Given the description of an element on the screen output the (x, y) to click on. 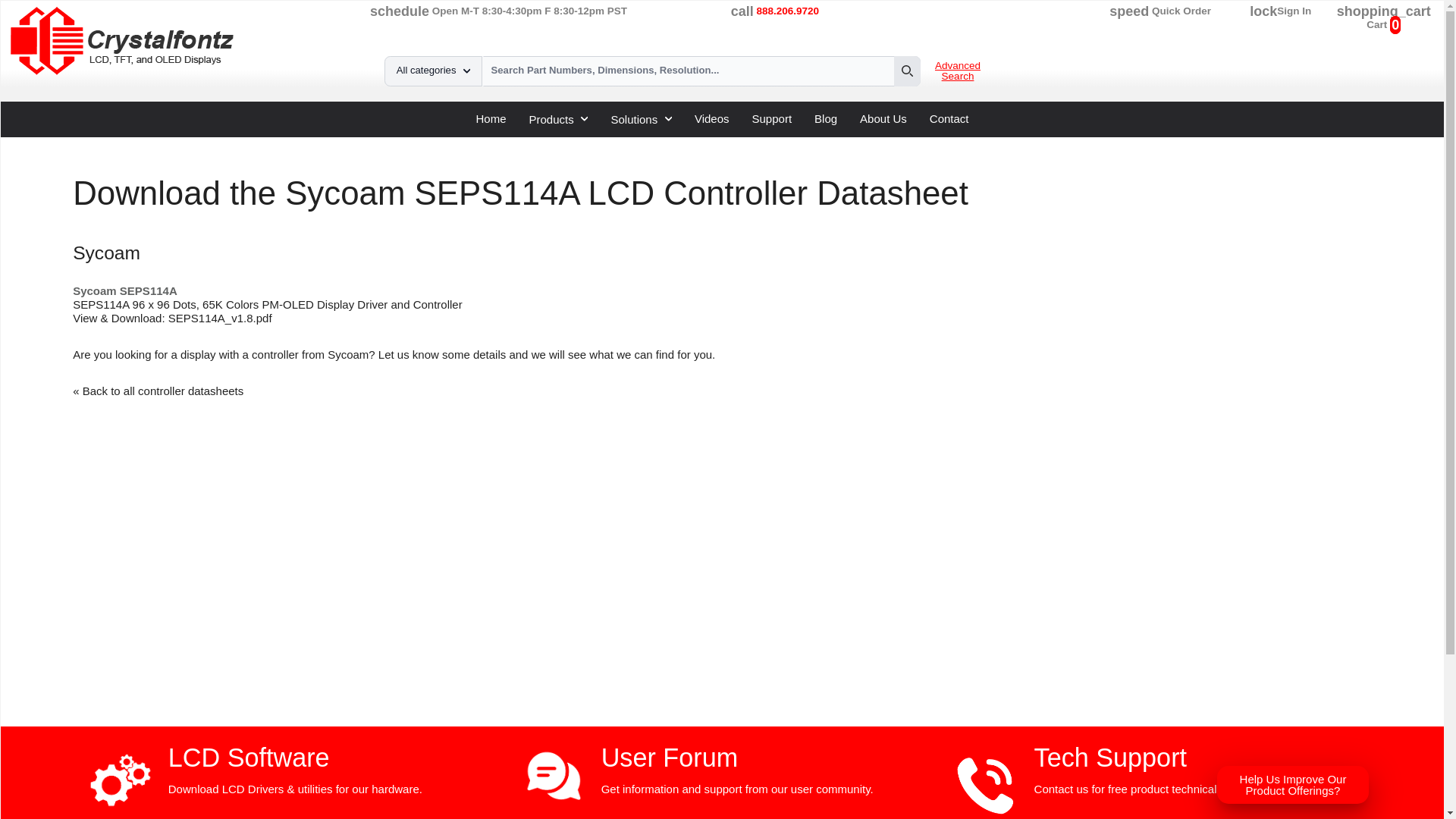
Sign In (1293, 10)
Home (490, 117)
Advanced Search (957, 73)
speed Quick Order (1160, 10)
Support (772, 117)
Products (558, 118)
Blog (825, 117)
Solutions (640, 118)
Search (906, 71)
Videos (711, 117)
Cart (1377, 24)
Sign In (1293, 10)
Contact (949, 117)
About Us (883, 117)
All categories (432, 71)
